Given the description of an element on the screen output the (x, y) to click on. 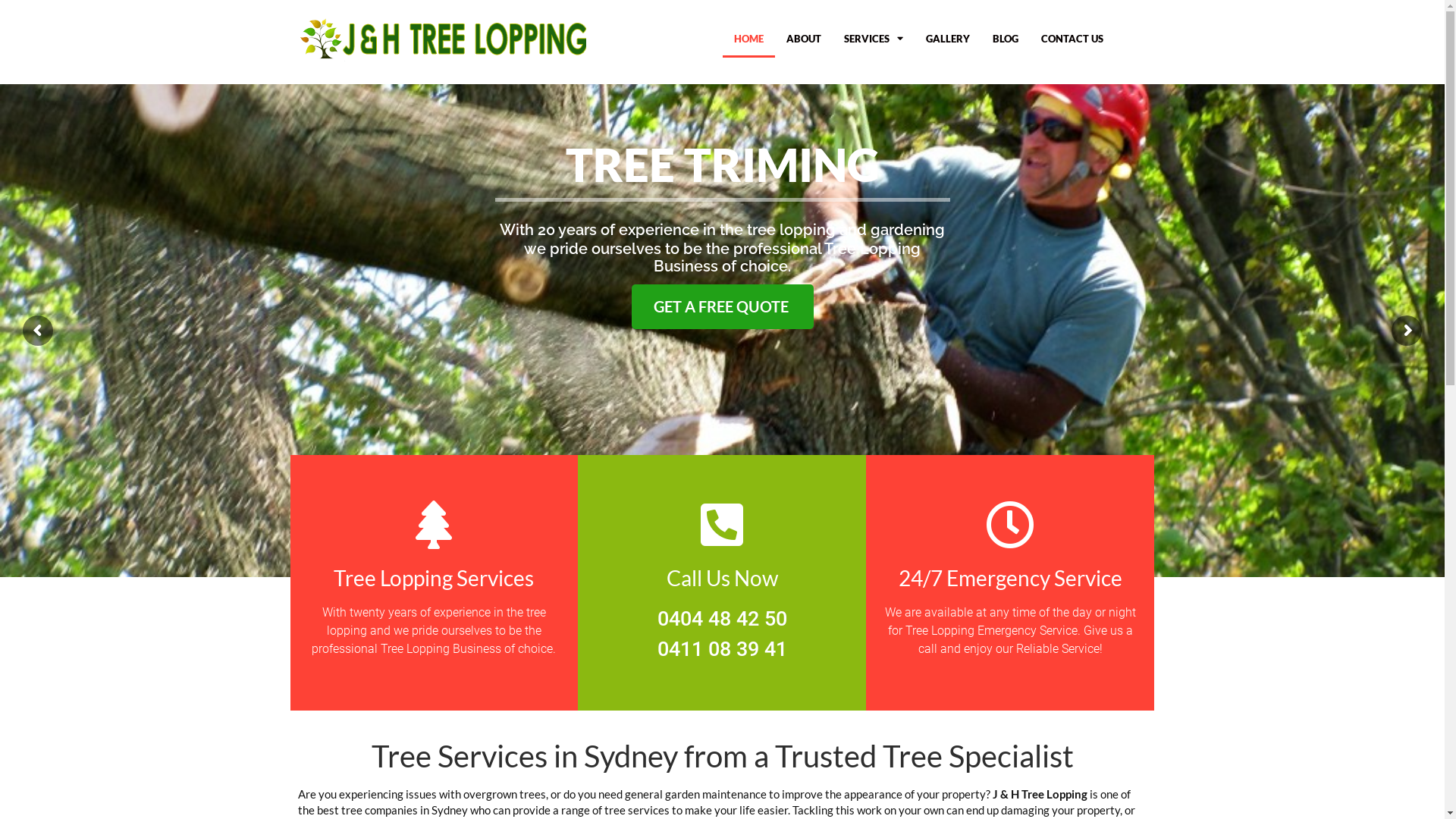
CONTACT US Element type: text (1071, 38)
HOME Element type: text (747, 38)
ABOUT Element type: text (803, 38)
GALLERY Element type: text (947, 38)
BLOG Element type: text (1005, 38)
GET A FREE QUOTE Element type: text (721, 306)
SERVICES Element type: text (873, 38)
